Given the description of an element on the screen output the (x, y) to click on. 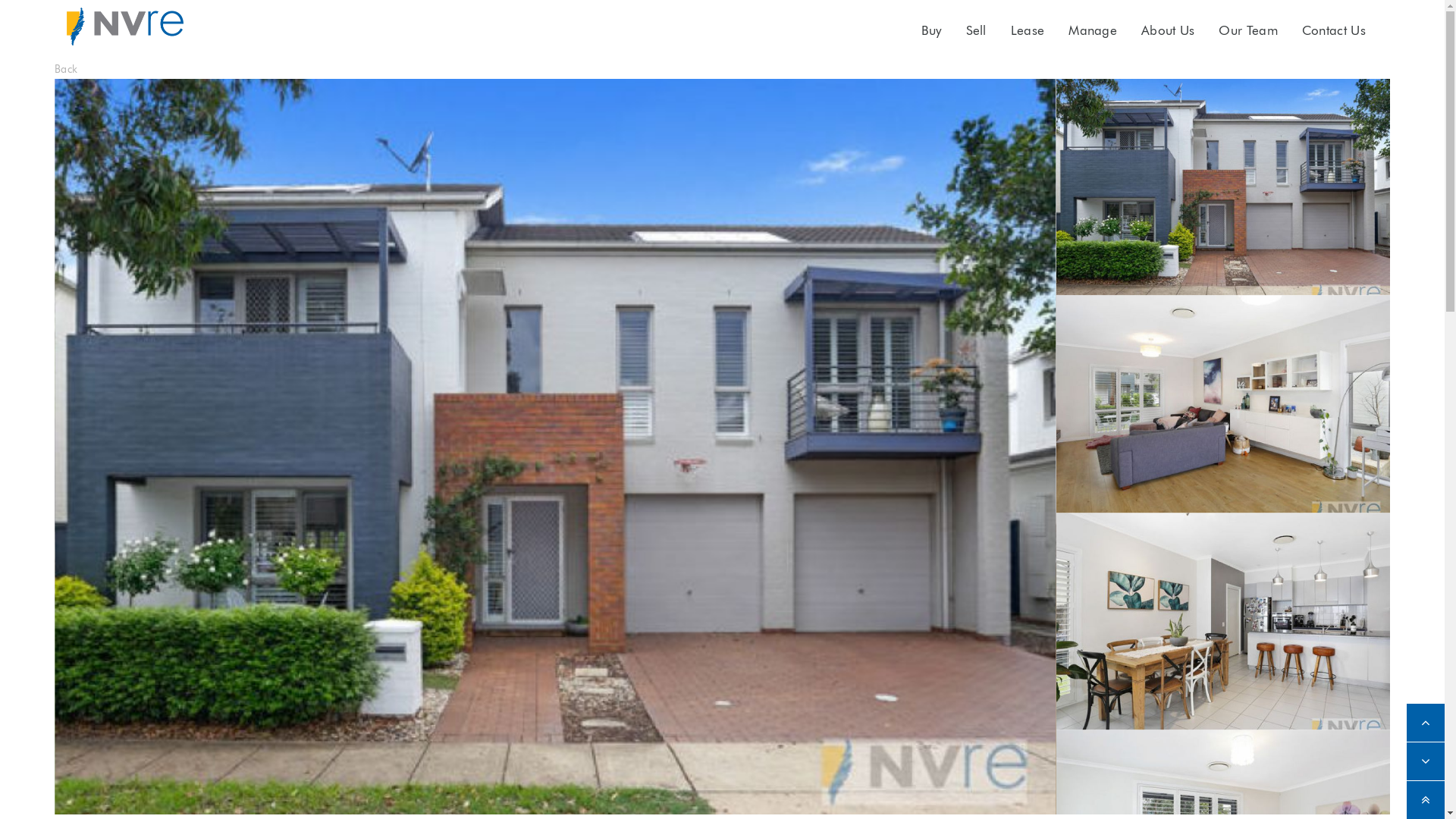
scroll up Element type: hover (1425, 722)
Sell Element type: text (975, 30)
scroll down Element type: hover (1425, 761)
Lease Element type: text (1027, 30)
Contact Us Element type: text (1333, 30)
Our Team Element type: text (1247, 30)
About Us Element type: text (1167, 30)
Manage Element type: text (1092, 30)
Buy Element type: text (931, 30)
Back Element type: text (65, 68)
